Given the description of an element on the screen output the (x, y) to click on. 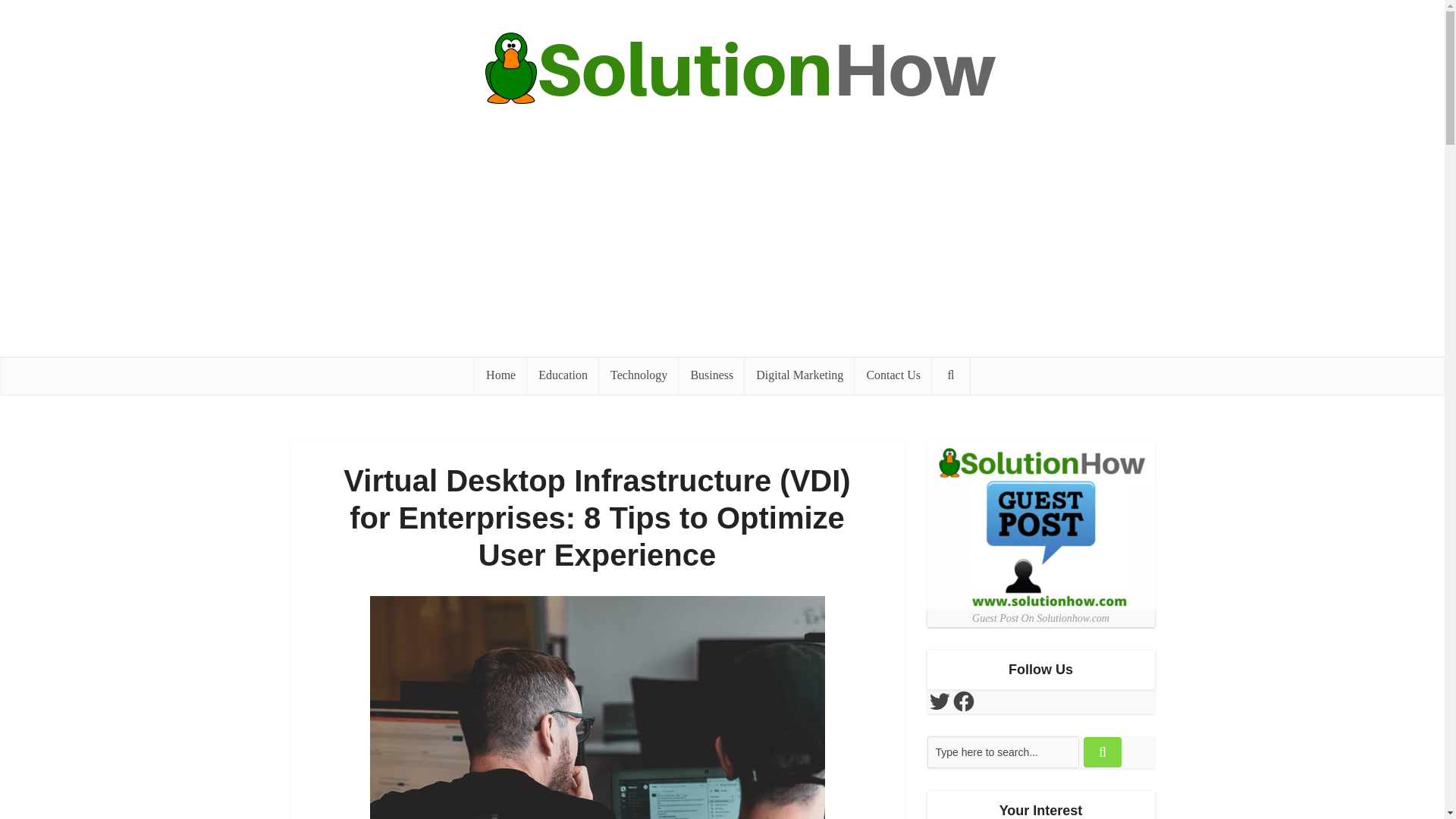
Type here to search... (1002, 752)
Twitter (938, 701)
Business (711, 374)
Education (562, 374)
Contact Us (892, 374)
SolutionHow (721, 68)
Digital Marketing (799, 374)
Facebook (962, 701)
Technology (638, 374)
